Given the description of an element on the screen output the (x, y) to click on. 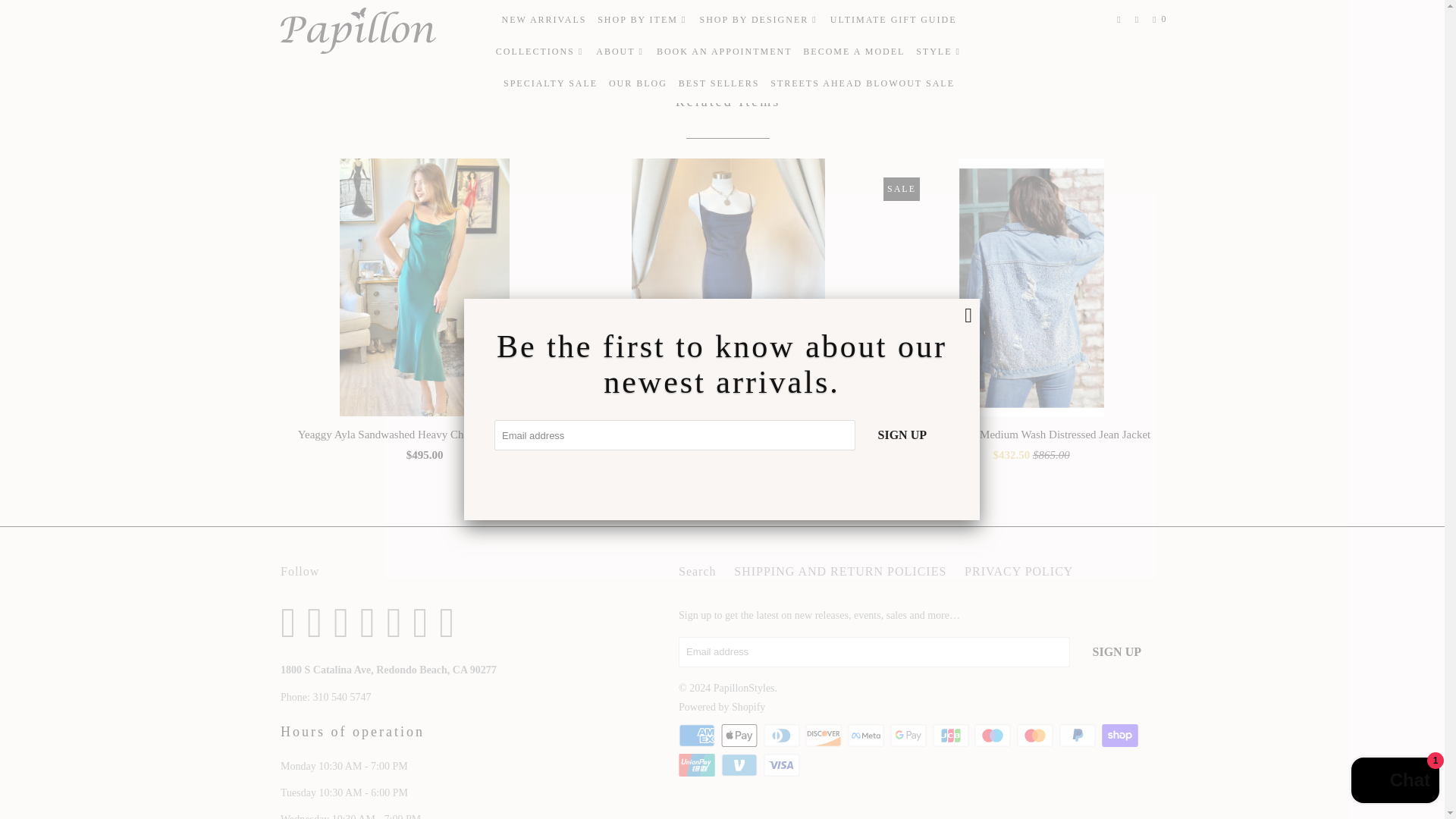
JCB (952, 734)
PayPal (1079, 734)
Meta Pay (866, 734)
Union Pay (697, 764)
Shop Pay (1120, 734)
Mastercard (1036, 734)
American Express (697, 734)
Diners Club (782, 734)
Venmo (740, 764)
Google Pay (909, 734)
Apple Pay (740, 734)
Maestro (993, 734)
Visa (782, 764)
Discover (824, 734)
